Given the description of an element on the screen output the (x, y) to click on. 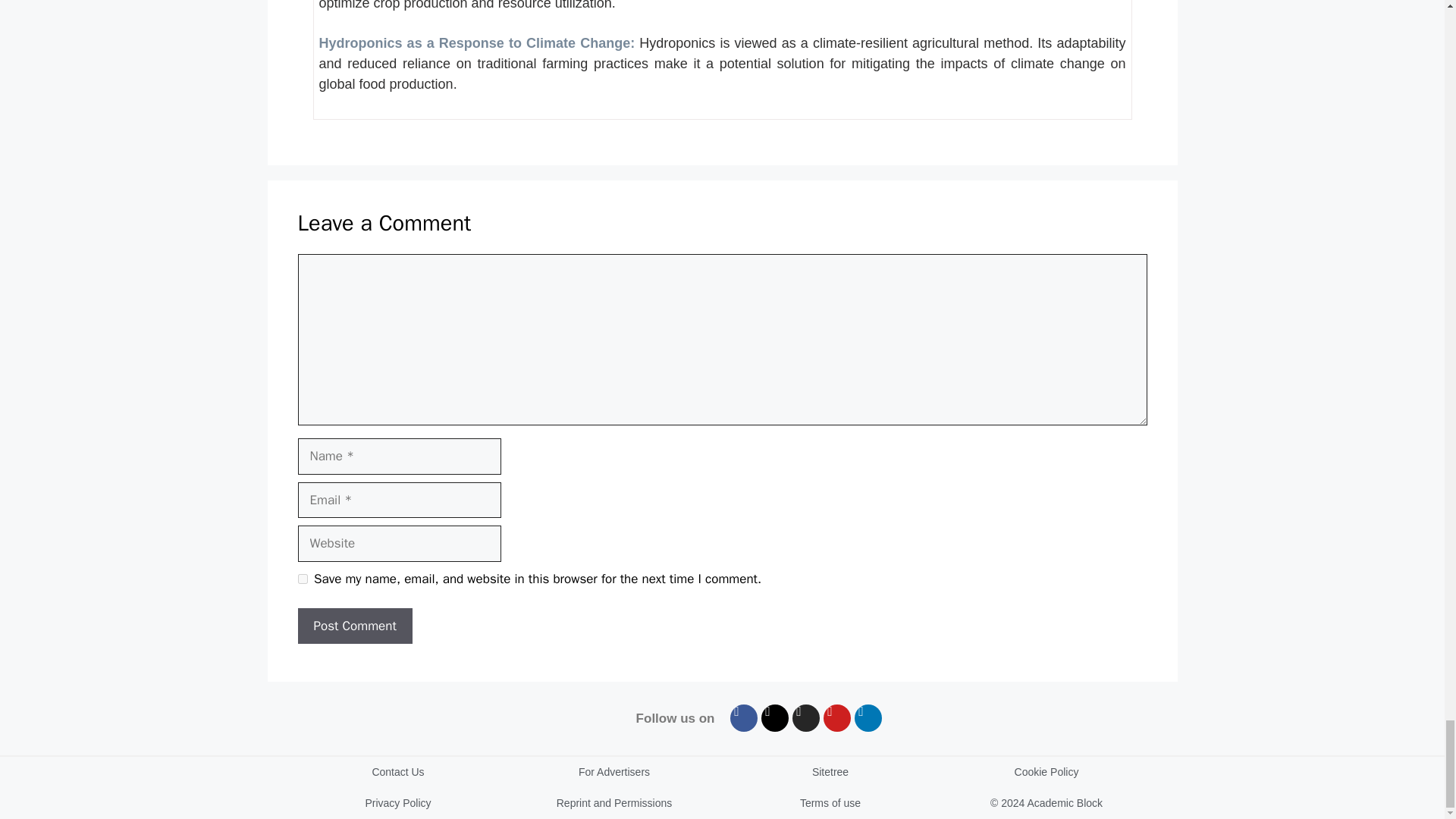
Terms of use (829, 803)
Sitetree (829, 772)
Post Comment (354, 626)
yes (302, 578)
Contact Us (397, 772)
Privacy Policy (397, 803)
Reprint and Permissions (613, 803)
Post Comment (354, 626)
For Advertisers (613, 772)
Cookie Policy (1046, 772)
